Given the description of an element on the screen output the (x, y) to click on. 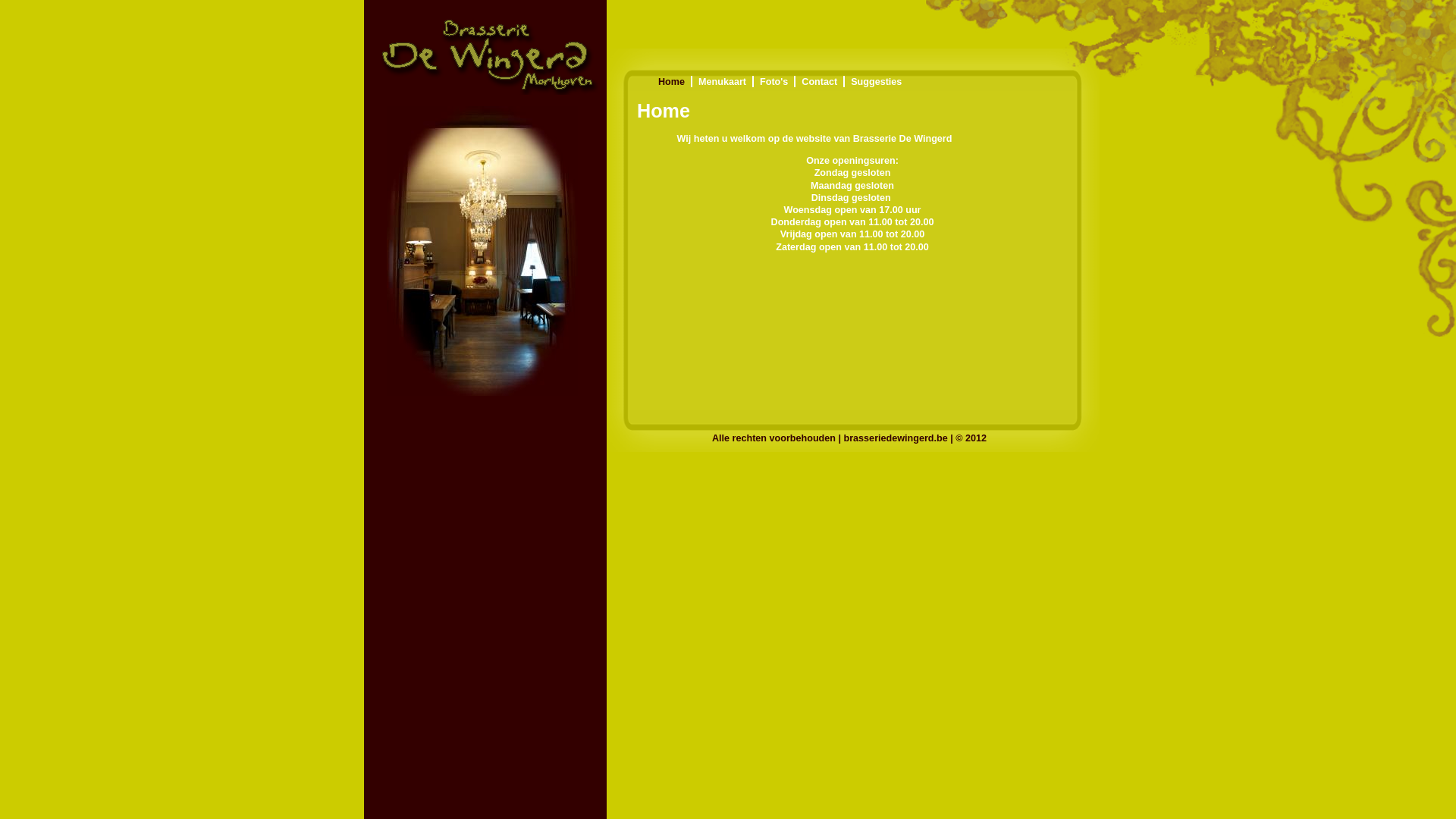
Menukaart Element type: text (722, 81)
Home Element type: hover (485, 48)
Home Element type: text (671, 81)
Suggesties Element type: text (875, 81)
Foto's Element type: text (773, 81)
brasseriedewingerd.be Element type: hover (481, 250)
Contact Element type: text (819, 81)
